Given the description of an element on the screen output the (x, y) to click on. 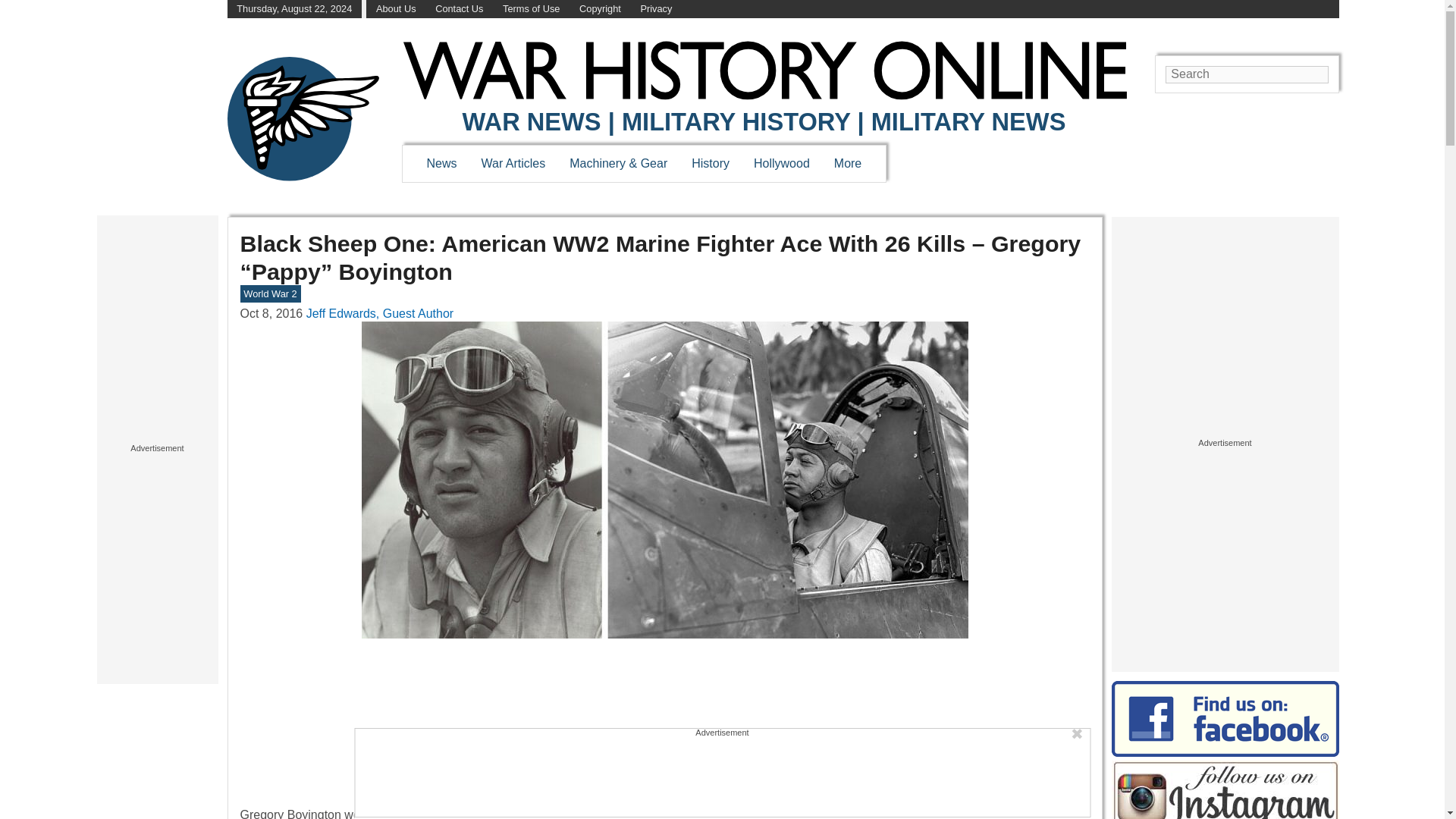
Hollywood (781, 163)
Terms of Use (530, 8)
About Us (395, 8)
Privacy (655, 8)
Copyright (600, 8)
War Articles (513, 163)
News (441, 163)
More (847, 163)
Contact Us (459, 8)
History (710, 163)
